Given the description of an element on the screen output the (x, y) to click on. 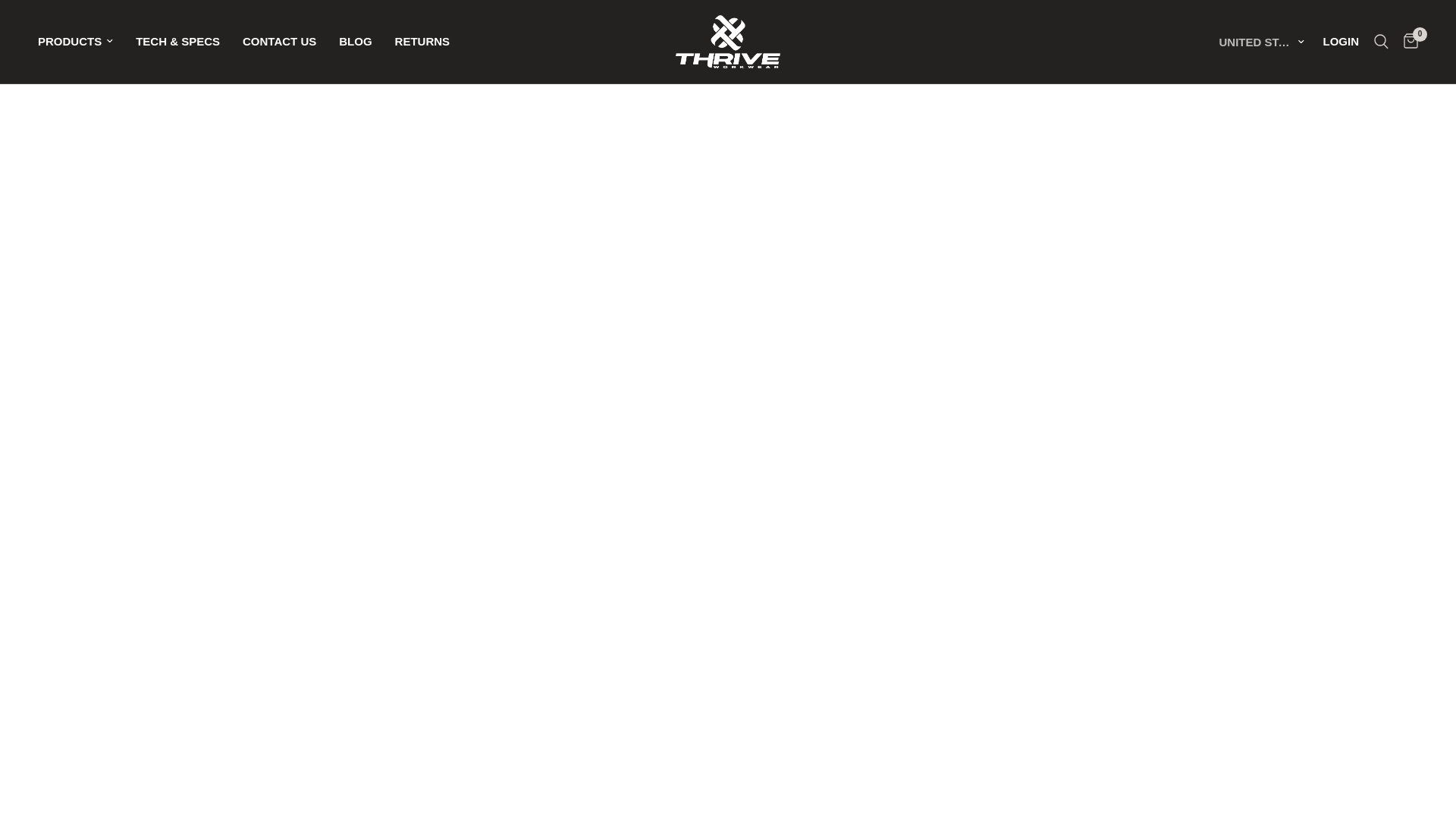
BLOG (355, 41)
RETURNS (421, 41)
CONTACT US (279, 41)
PRODUCTS (75, 41)
